Given the description of an element on the screen output the (x, y) to click on. 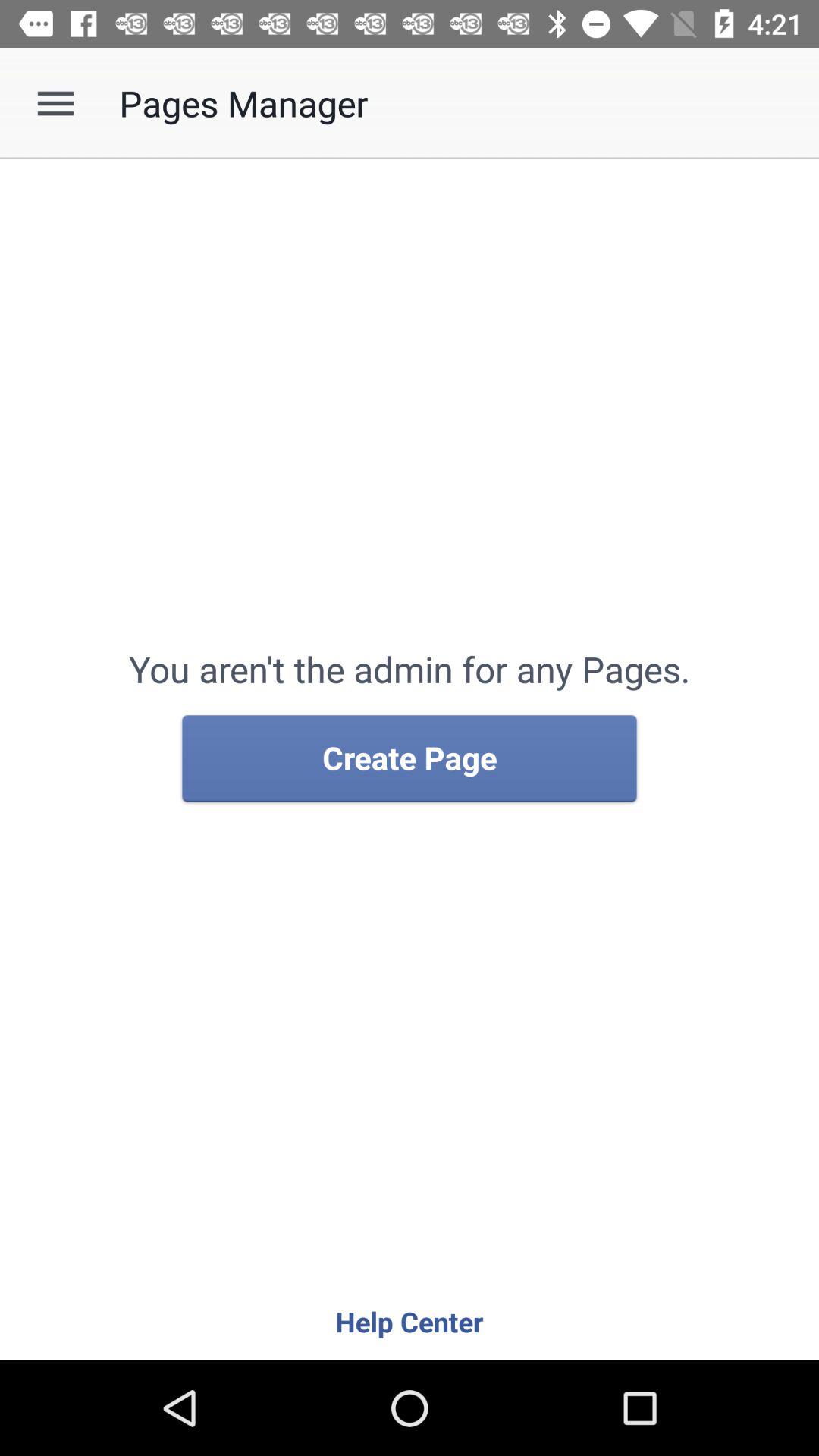
swipe to help center item (409, 1321)
